Given the description of an element on the screen output the (x, y) to click on. 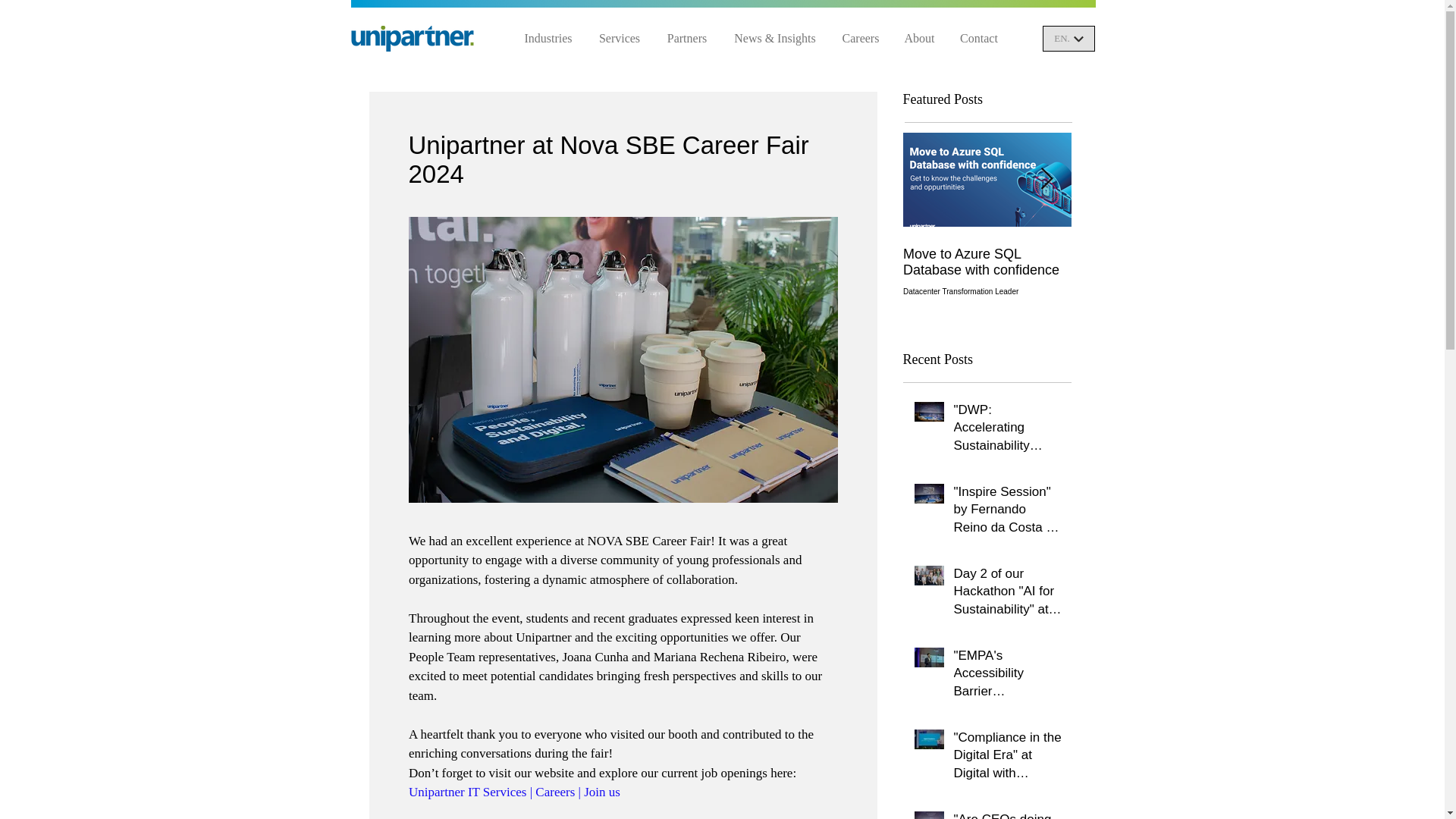
EN. (1068, 38)
Move to Azure SQL Database with confidence (986, 262)
Contact (978, 37)
Industries (548, 37)
Partners (686, 37)
About (918, 37)
Services (618, 37)
Careers (860, 37)
Unipartner-IT-Services-Logo.png (411, 38)
